Given the description of an element on the screen output the (x, y) to click on. 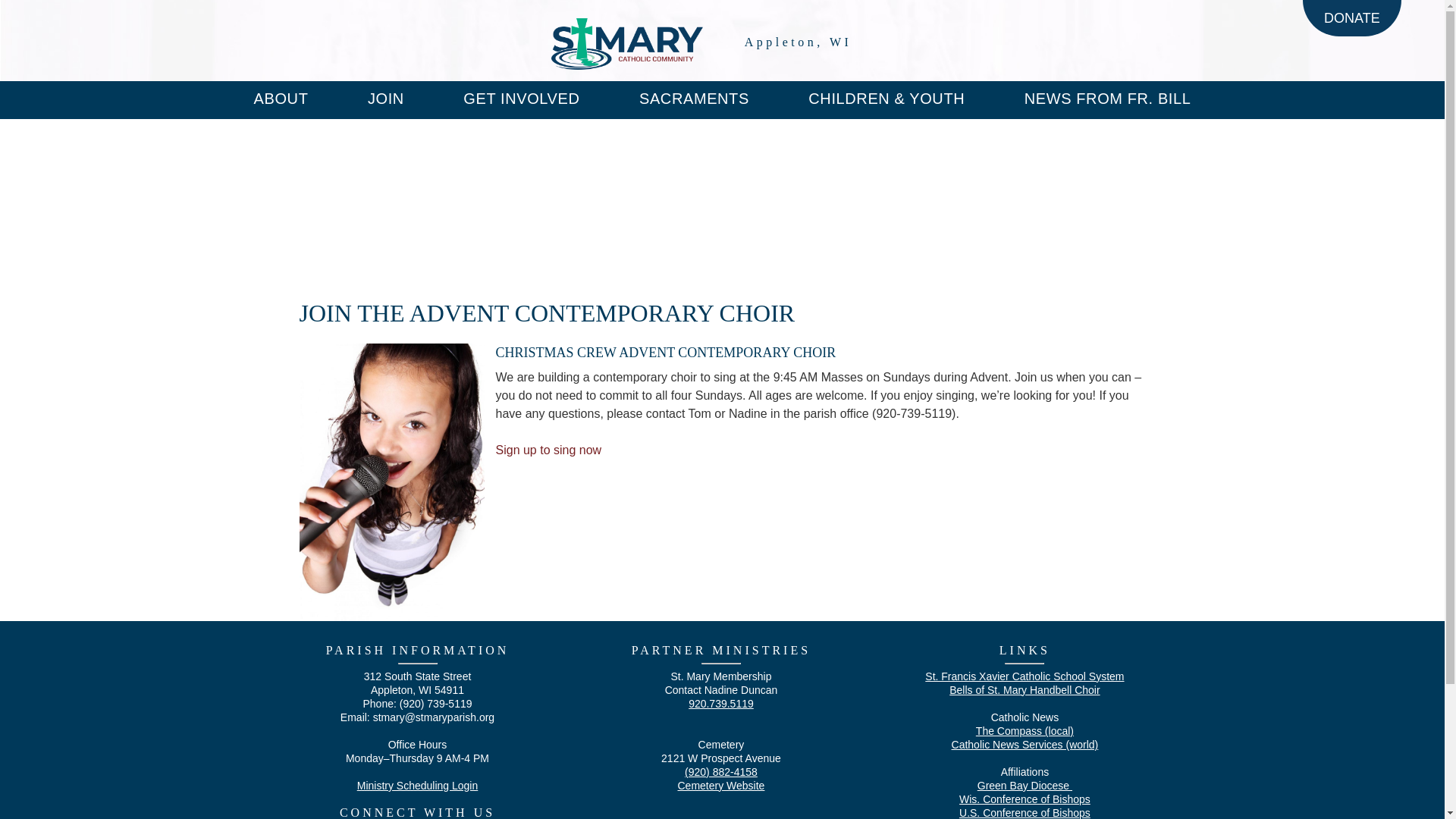
ABOUT (280, 98)
JOIN (386, 98)
SACRAMENTS (694, 98)
GET INVOLVED (521, 98)
DONATE (1351, 18)
